Given the description of an element on the screen output the (x, y) to click on. 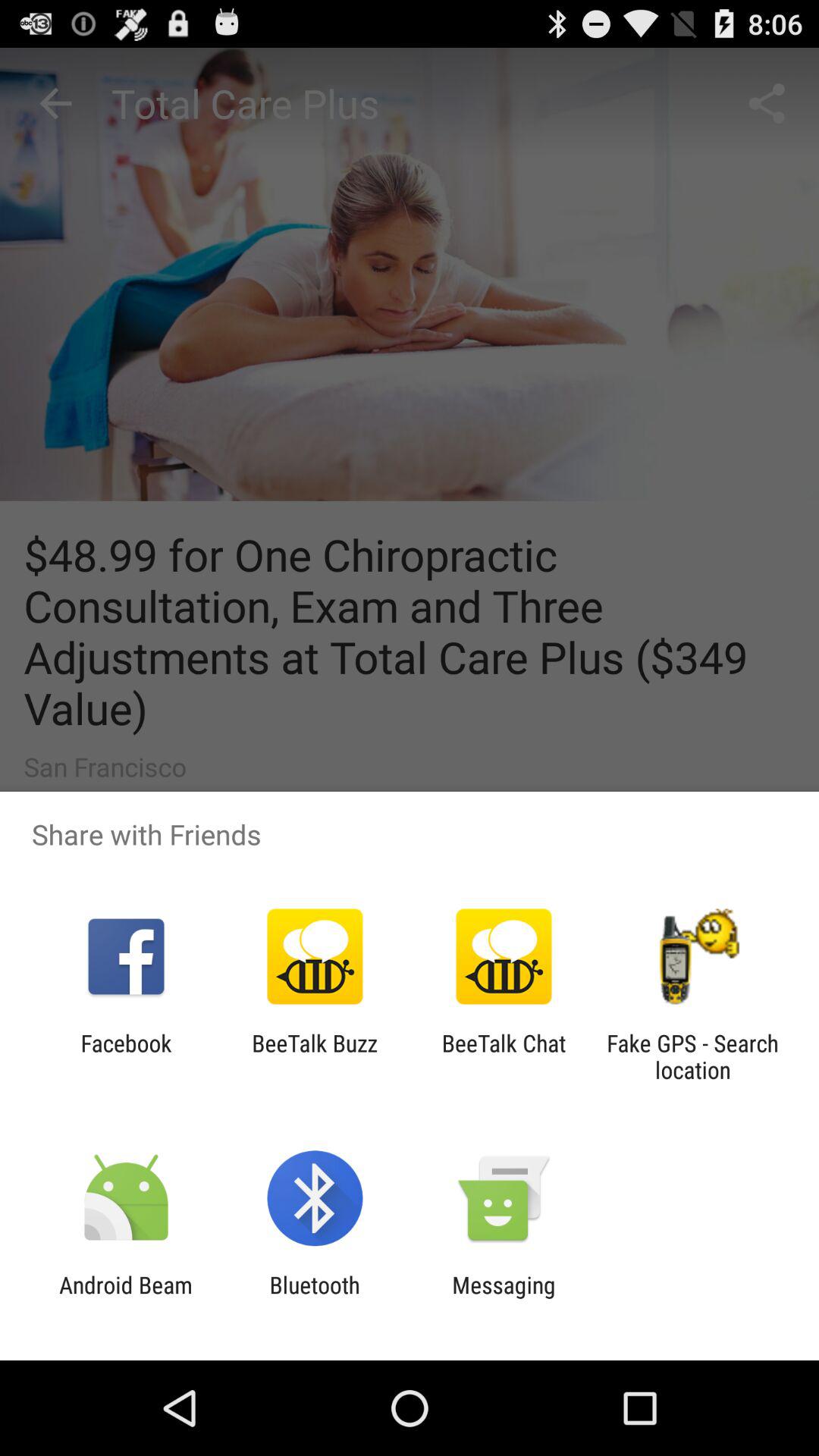
turn off icon to the right of facebook icon (314, 1056)
